Given the description of an element on the screen output the (x, y) to click on. 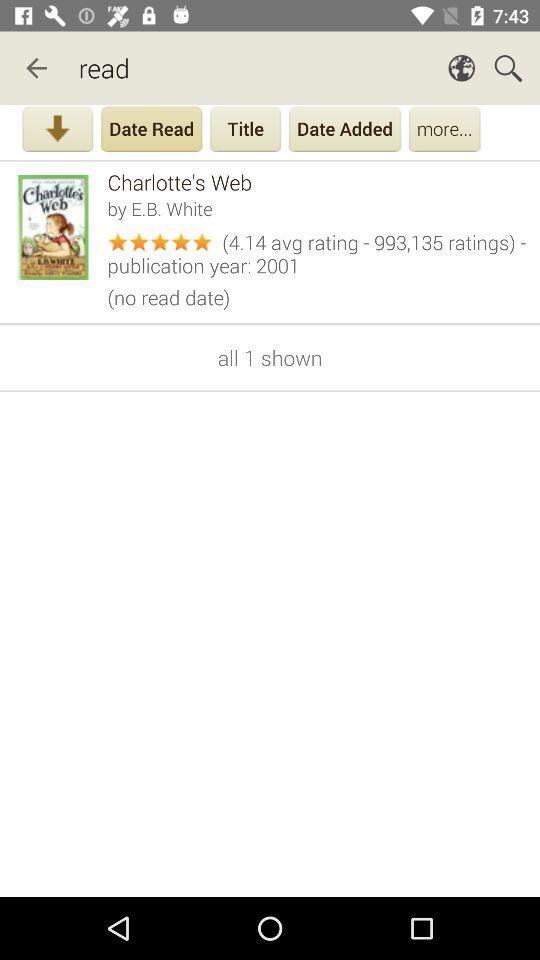
turn on the icon above the 4 14 avg (316, 208)
